Given the description of an element on the screen output the (x, y) to click on. 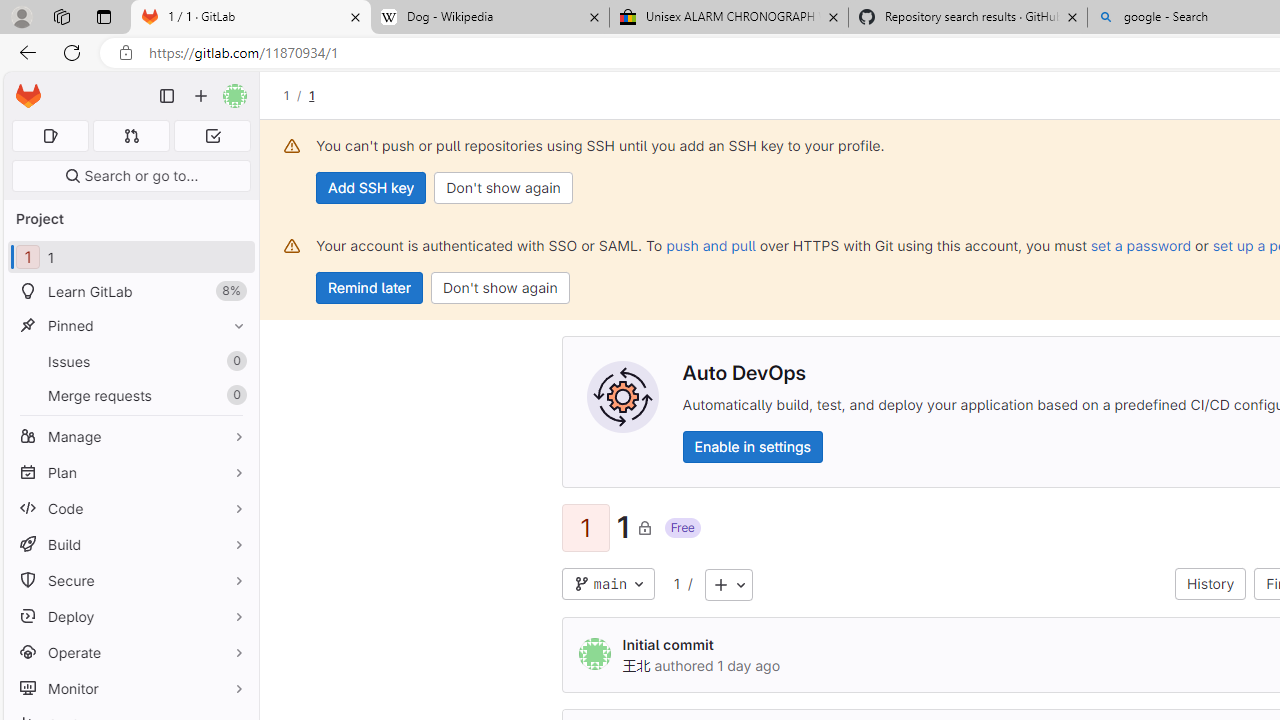
Plan (130, 471)
Unpin Issues (234, 361)
Operate (130, 651)
11 (130, 257)
Class: s16 gl-alert-icon gl-alert-icon-no-title (291, 246)
Pinned (130, 325)
Build (130, 543)
Initial commit (668, 644)
Code (130, 507)
